Given the description of an element on the screen output the (x, y) to click on. 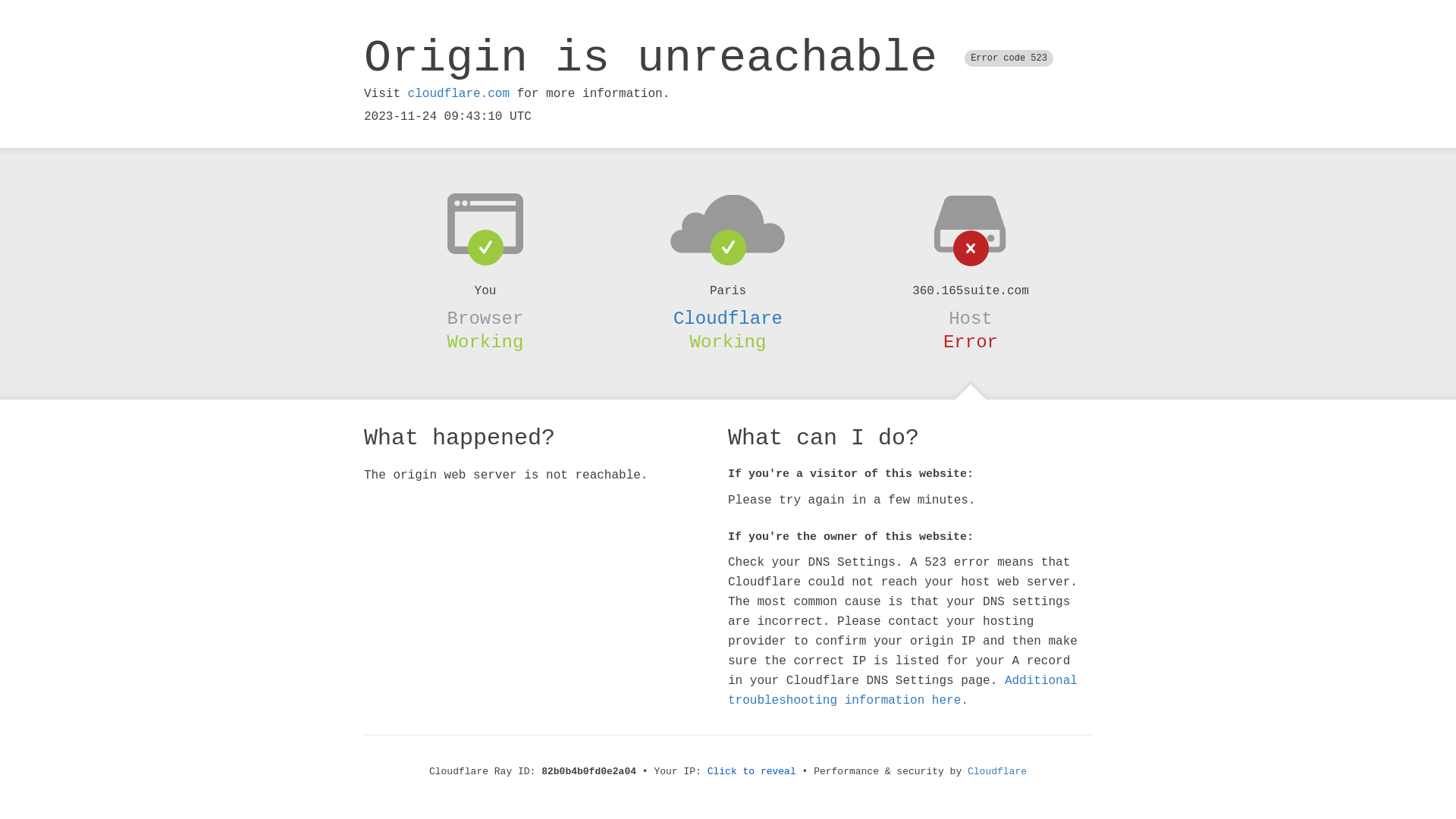
Cloudflare Element type: text (727, 318)
Cloudflare Element type: text (996, 771)
Click to reveal Element type: text (751, 771)
cloudflare.com Element type: text (458, 93)
Additional troubleshooting information here. Element type: text (902, 690)
